Given the description of an element on the screen output the (x, y) to click on. 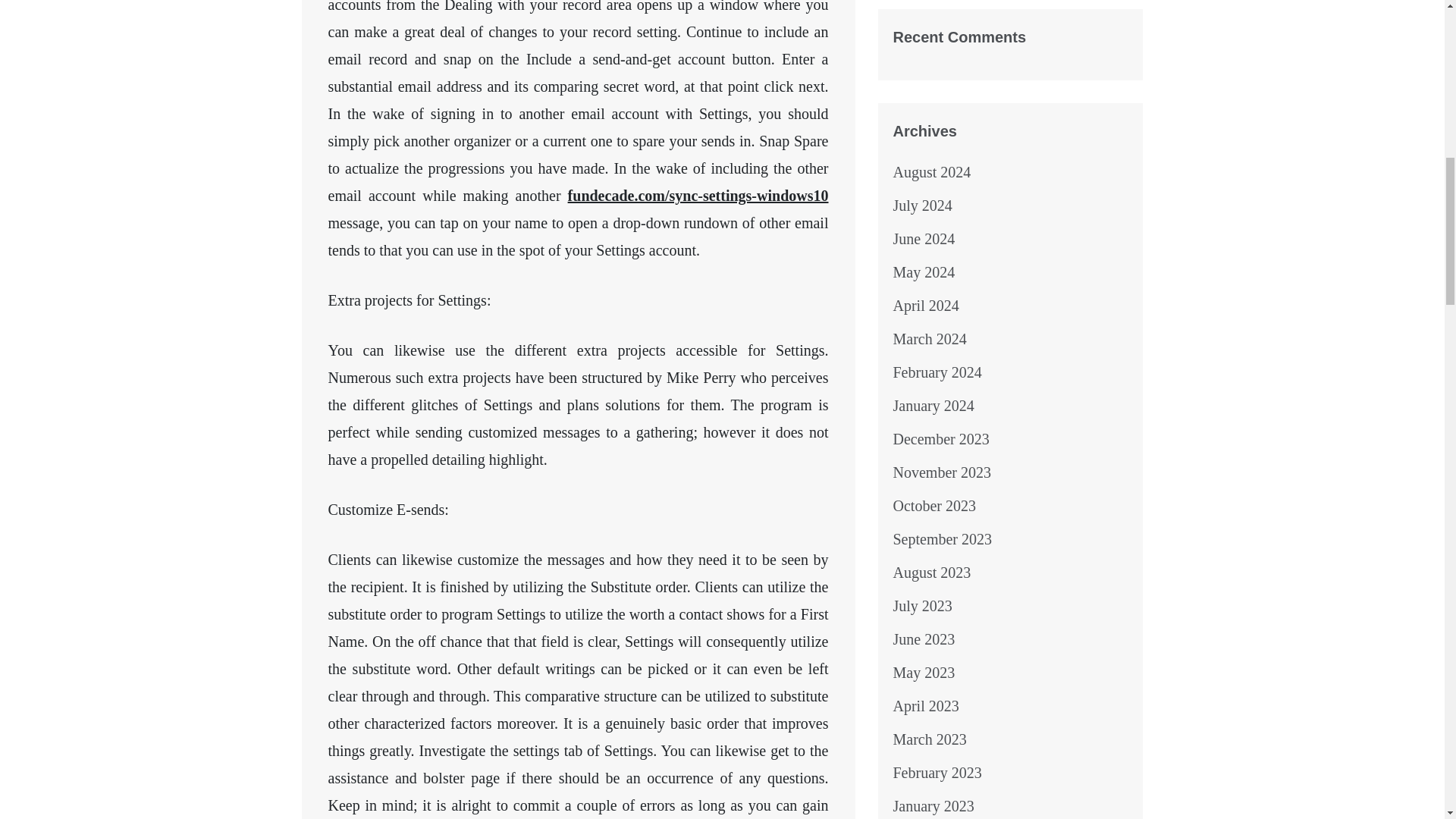
April 2024 (926, 305)
July 2023 (922, 605)
June 2023 (924, 638)
August 2023 (932, 572)
November 2023 (942, 472)
May 2024 (924, 271)
January 2023 (933, 805)
August 2024 (932, 171)
May 2023 (924, 672)
March 2024 (929, 338)
